Given the description of an element on the screen output the (x, y) to click on. 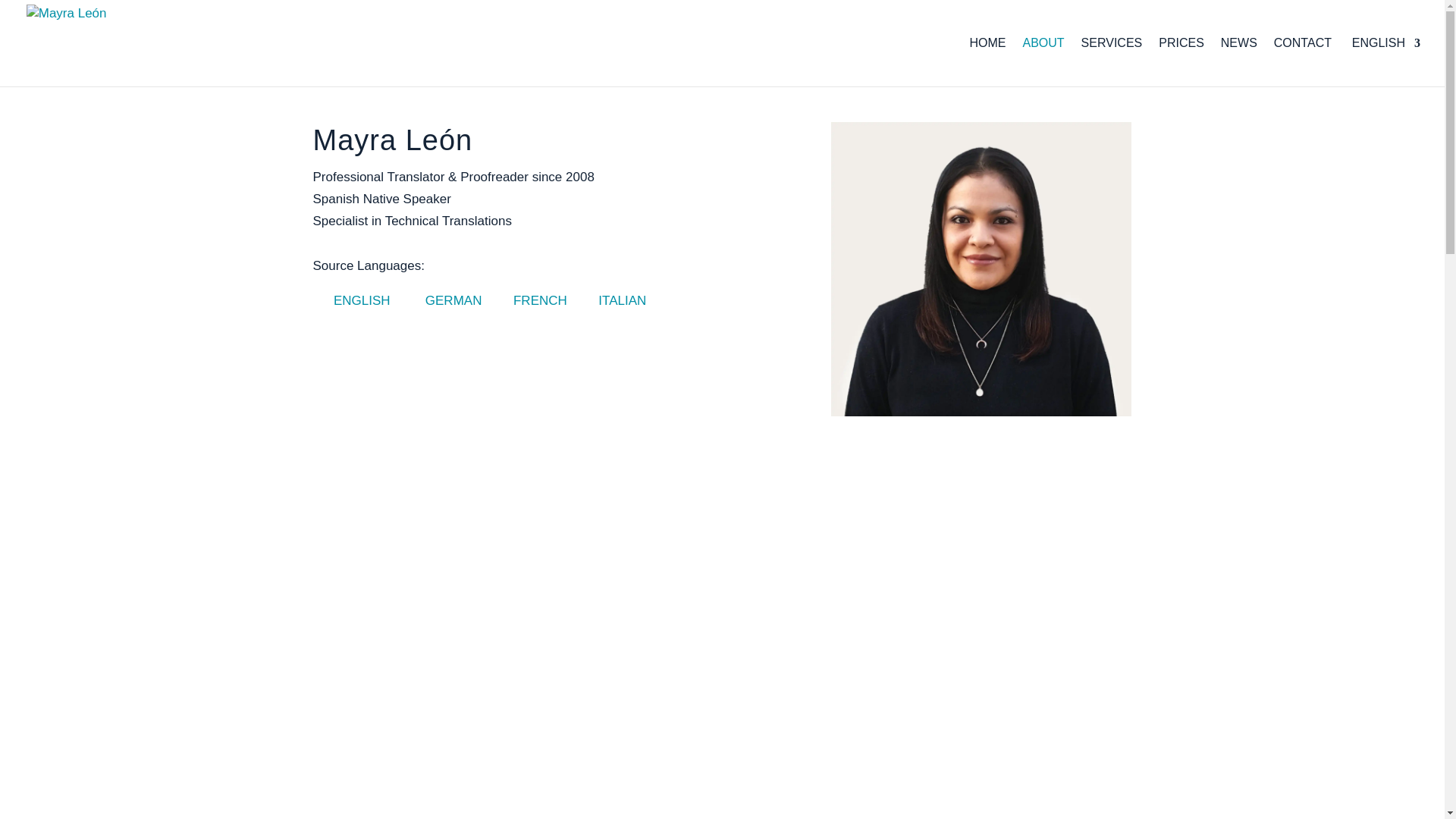
FRENCH (530, 300)
GERMAN (442, 300)
PRICES (1181, 61)
English (1384, 61)
ENGLISH (1384, 61)
SERVICES (1111, 61)
5 (981, 269)
ITALIAN (612, 300)
ENGLISH (351, 300)
CONTACT (1303, 61)
